Given the description of an element on the screen output the (x, y) to click on. 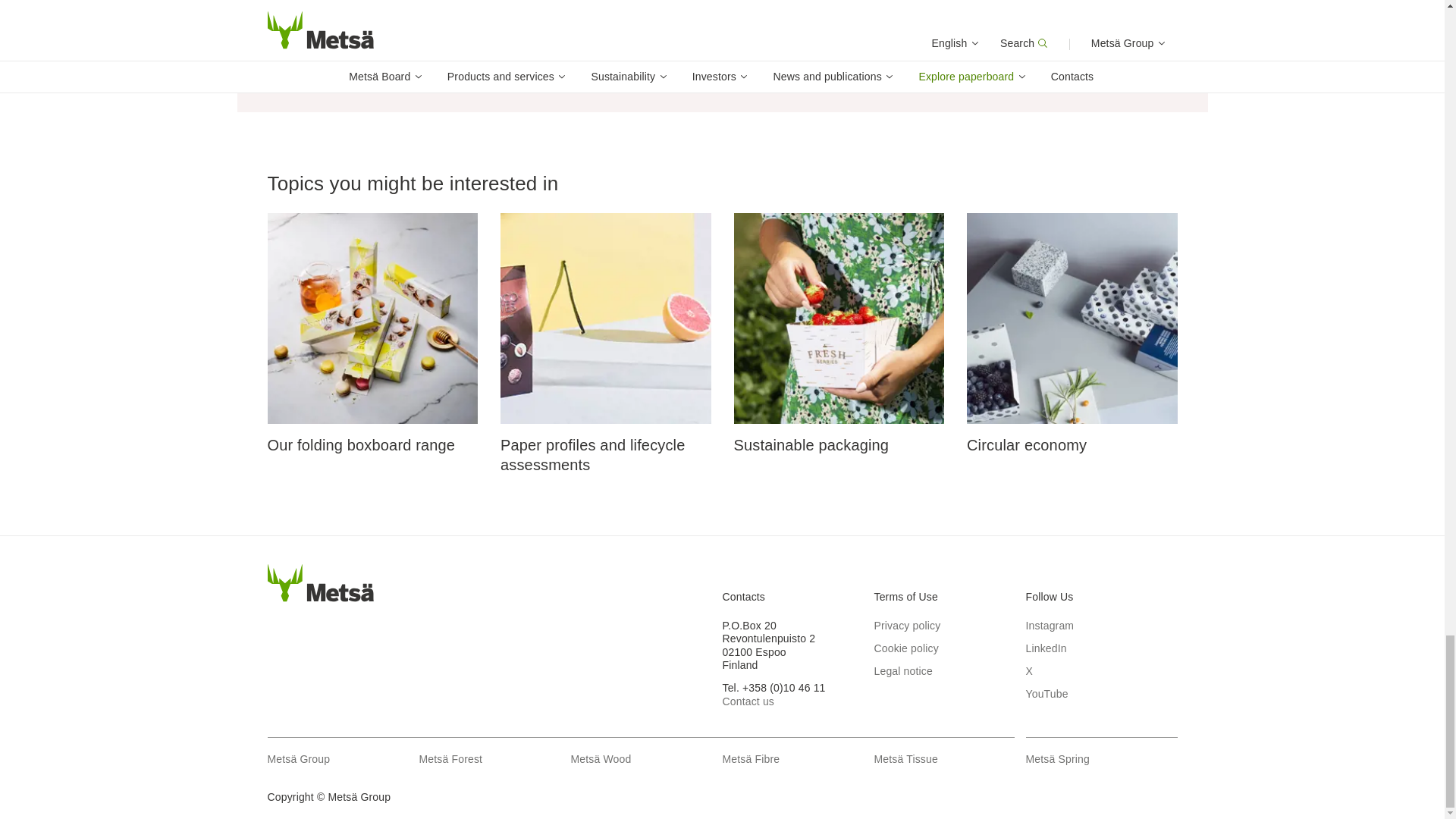
Product safety is non-negotiable (919, 75)
